Given the description of an element on the screen output the (x, y) to click on. 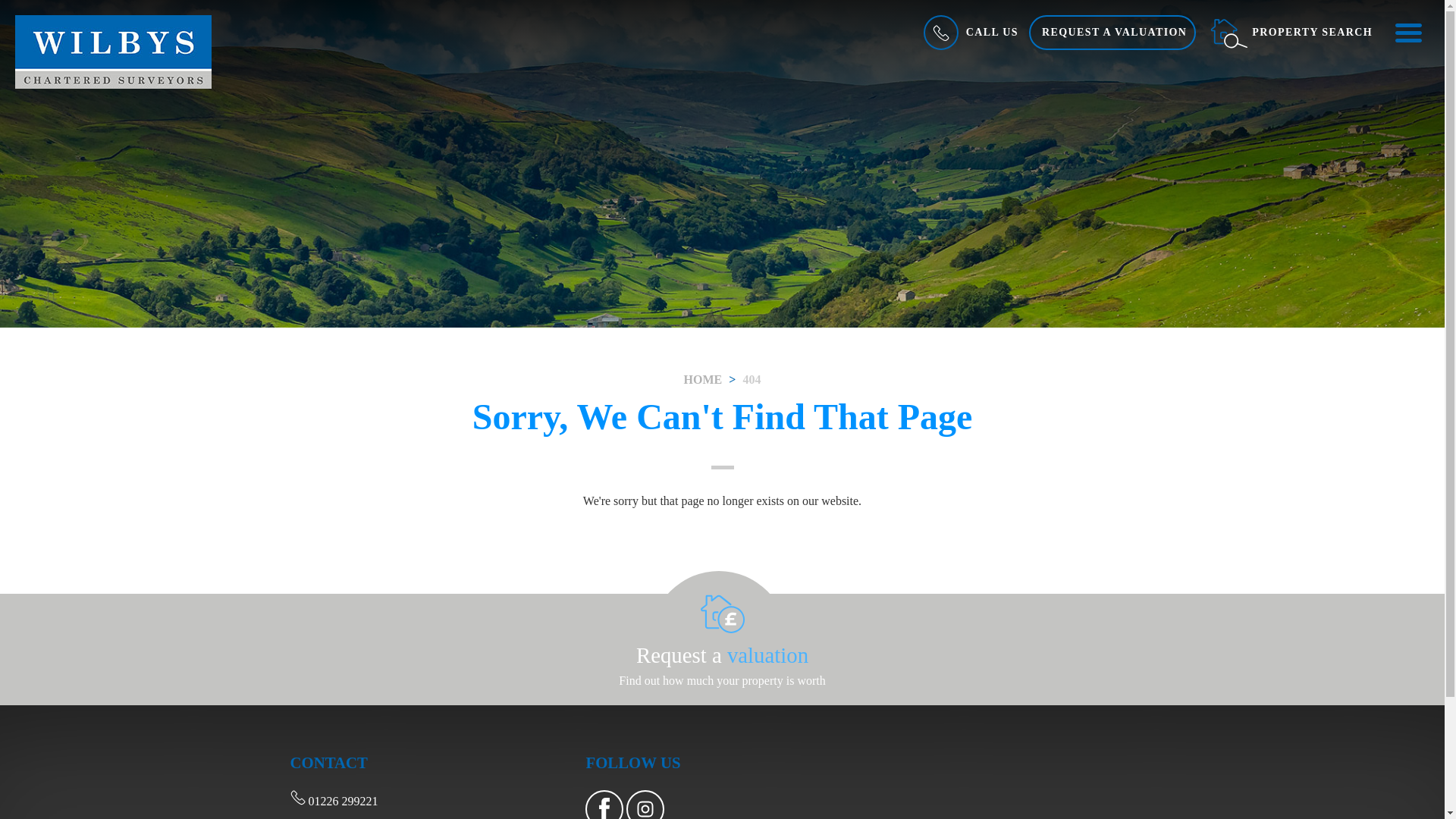
CALL US (969, 31)
PROPERTY SEARCH (1291, 31)
HOME (703, 379)
01226 299221 (333, 800)
REQUEST A VALUATION (1112, 32)
404 (751, 379)
MENU (1406, 31)
